Given the description of an element on the screen output the (x, y) to click on. 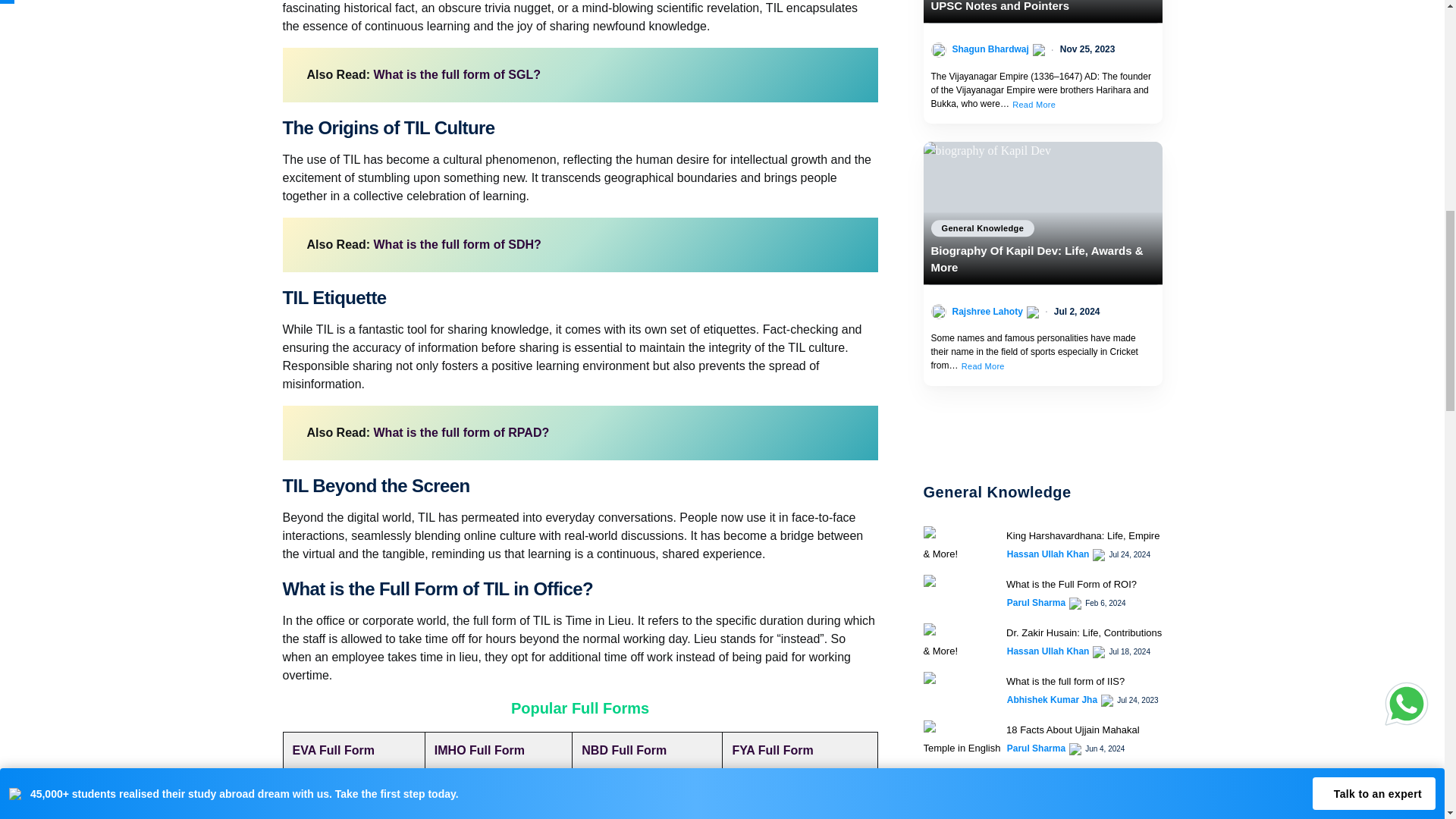
View all posts by Parul Sharma (1036, 602)
View all posts by Shagun Bhardwaj (990, 49)
View all posts by Abhishek Kumar Jha (1052, 699)
View all posts by Hassan Ullah Khan (1048, 651)
View all posts by Hassan Ullah Khan (1048, 554)
View all posts by Rajshree Lahoty (987, 311)
View all posts by Parul Sharma (1036, 748)
